Given the description of an element on the screen output the (x, y) to click on. 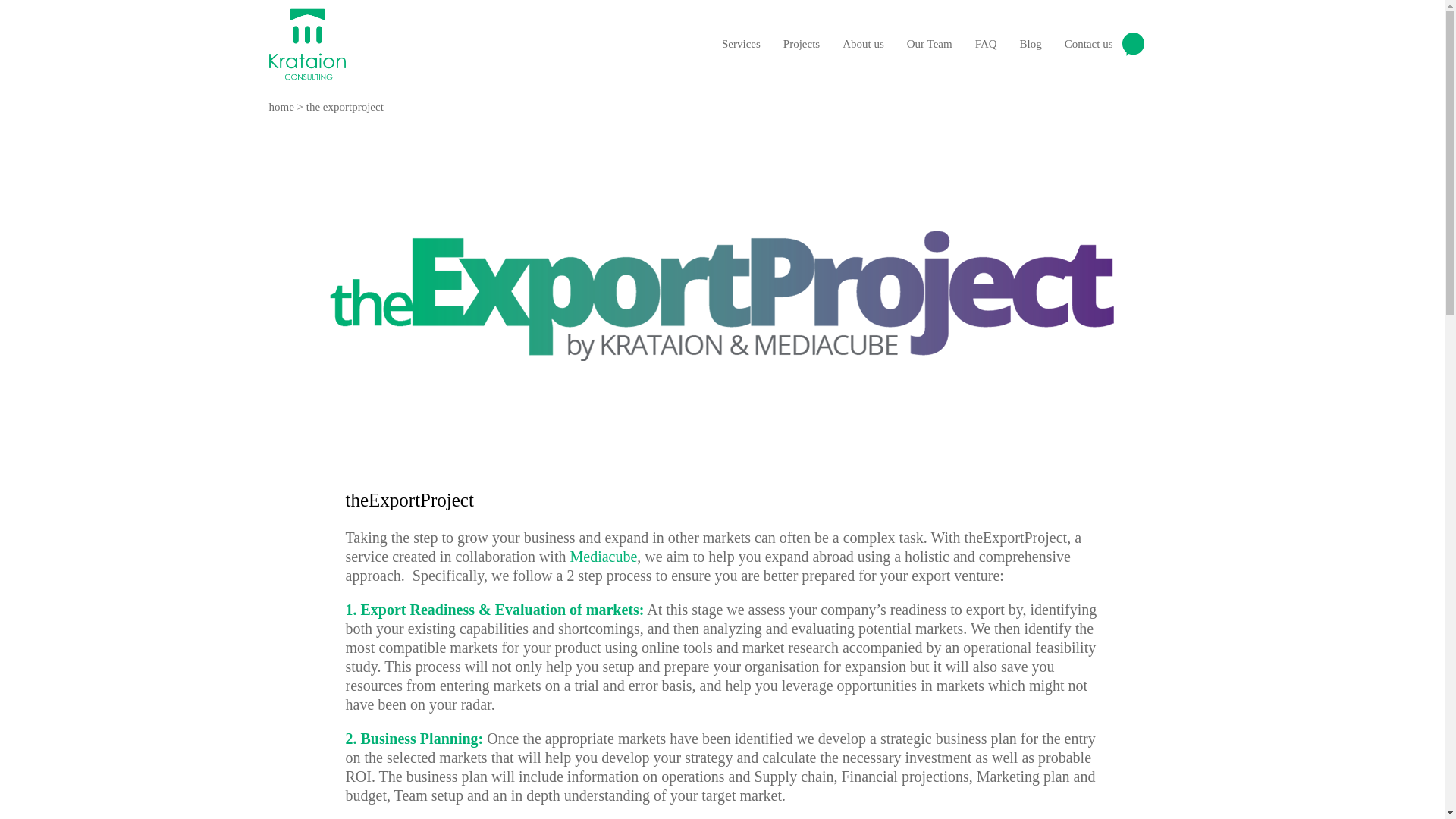
Mediacube (603, 556)
home (280, 106)
Contact us (1104, 44)
